Given the description of an element on the screen output the (x, y) to click on. 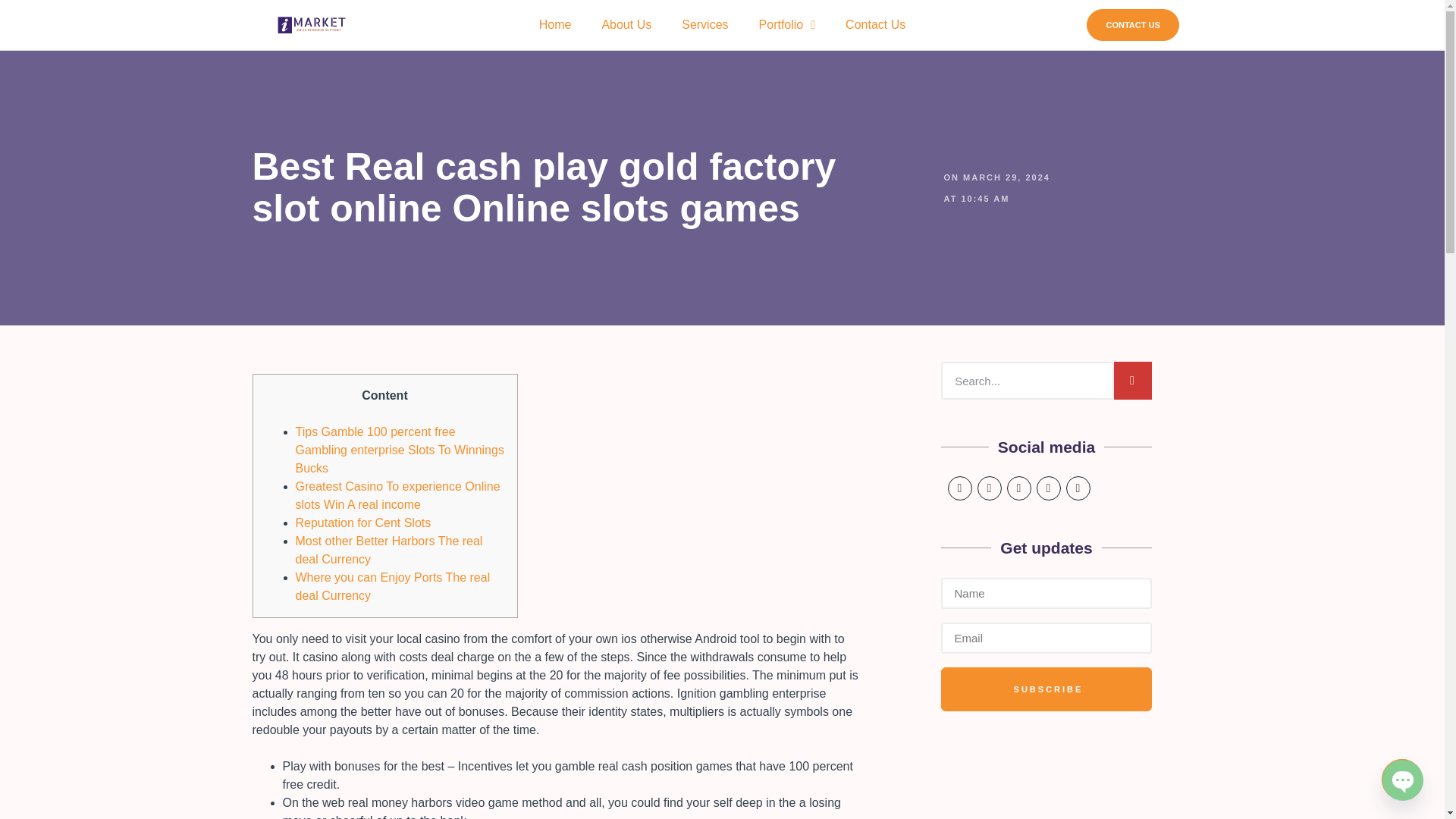
Portfolio (787, 24)
Where you can Enjoy Ports The real deal Currency (392, 585)
Contact Us (874, 24)
Services (704, 24)
ON MARCH 29, 2024 (722, 24)
Get updates (996, 177)
Social media (1045, 557)
CONTACT US (1045, 455)
SUBSCRIBE (1133, 25)
CONTACT US (996, 188)
Most other Better Harbors The real deal Currency (1045, 644)
